Given the description of an element on the screen output the (x, y) to click on. 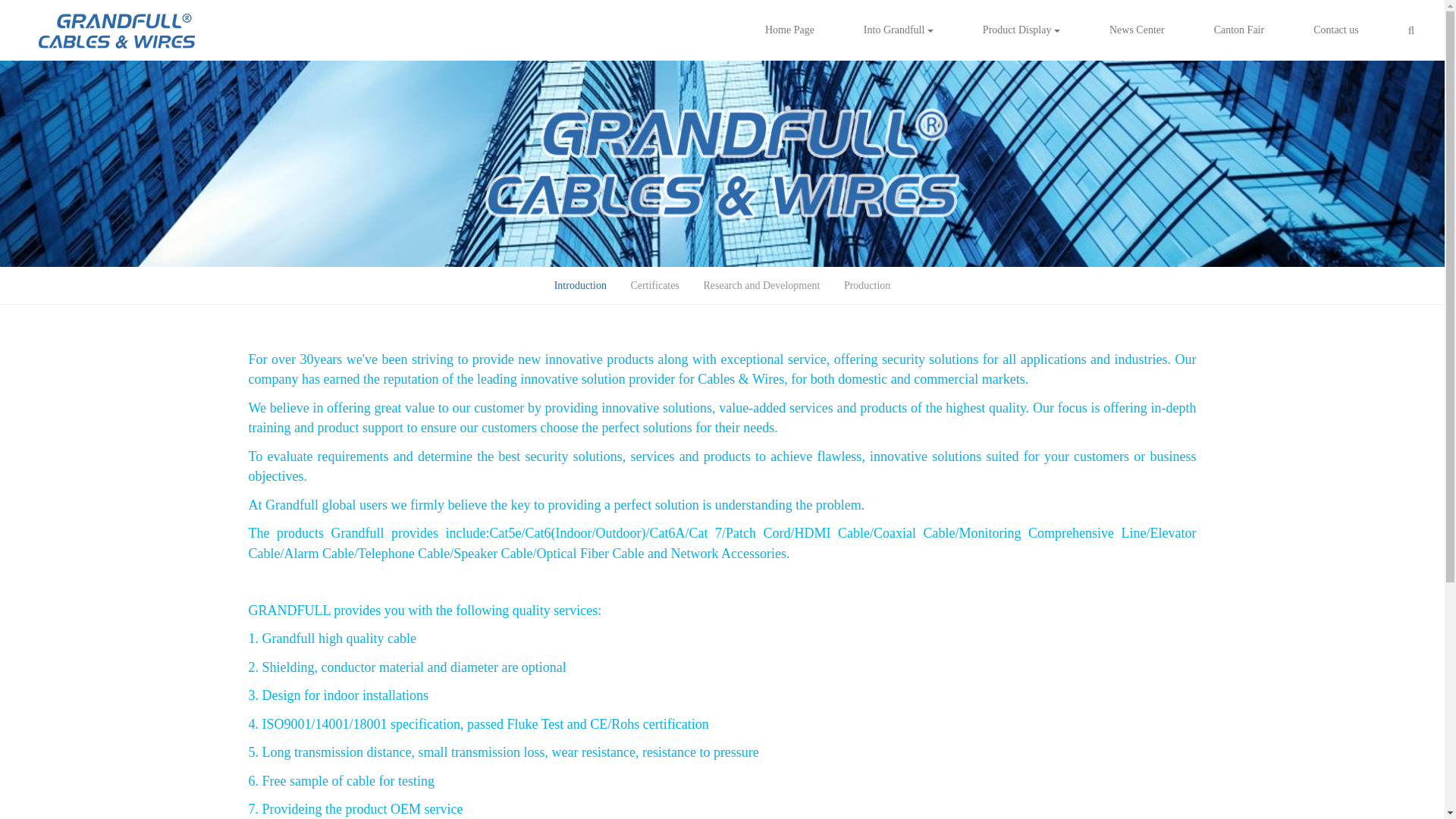
Product Display (1021, 30)
Contact us (1335, 30)
Home Page (789, 30)
Introduction (580, 284)
Canton Fair (1239, 30)
Certificates (655, 284)
Production (866, 284)
News Center (1136, 30)
Into Grandfull (897, 30)
Research and Development (761, 284)
